Given the description of an element on the screen output the (x, y) to click on. 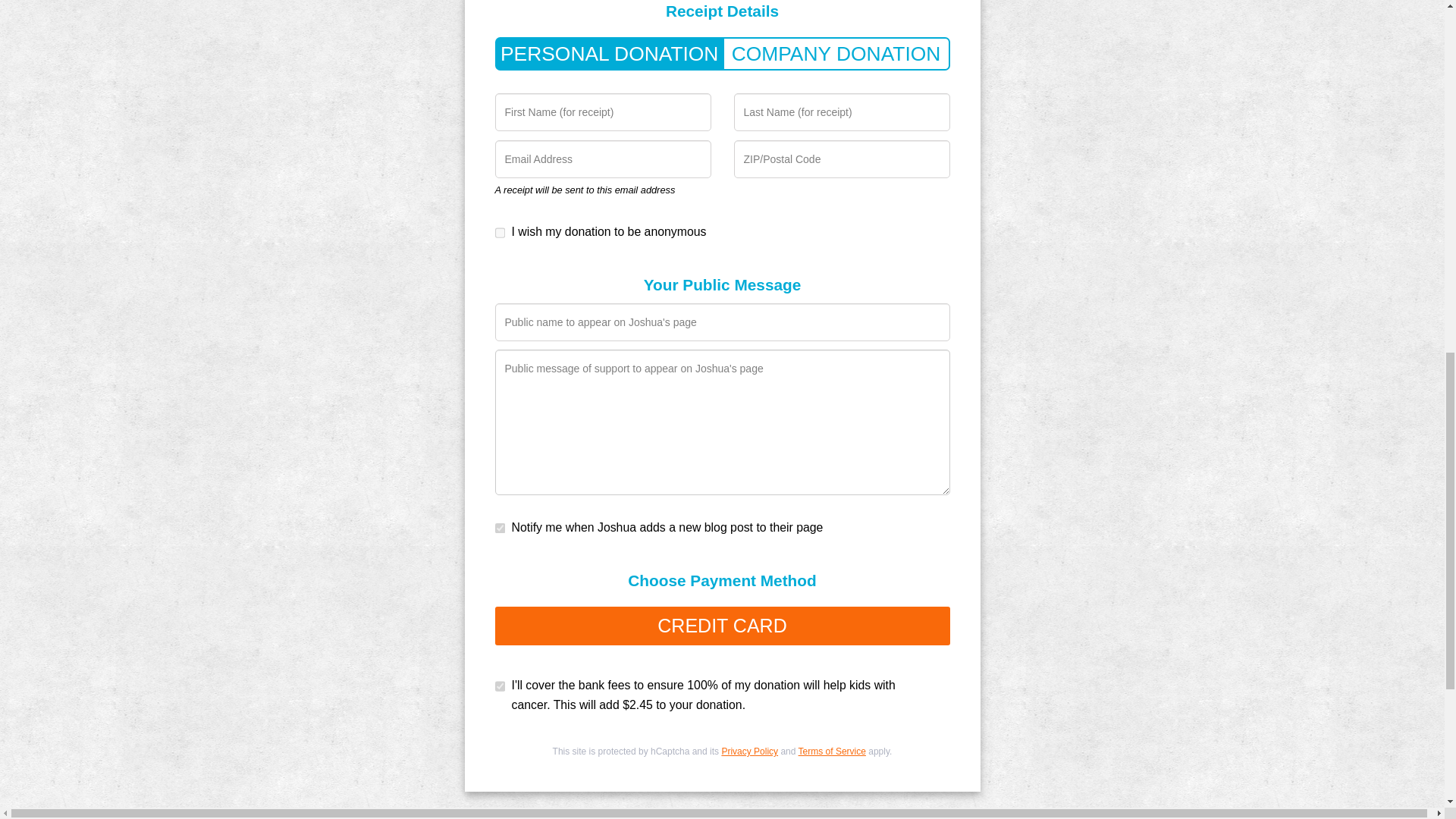
true (454, 406)
true (454, 137)
